Given the description of an element on the screen output the (x, y) to click on. 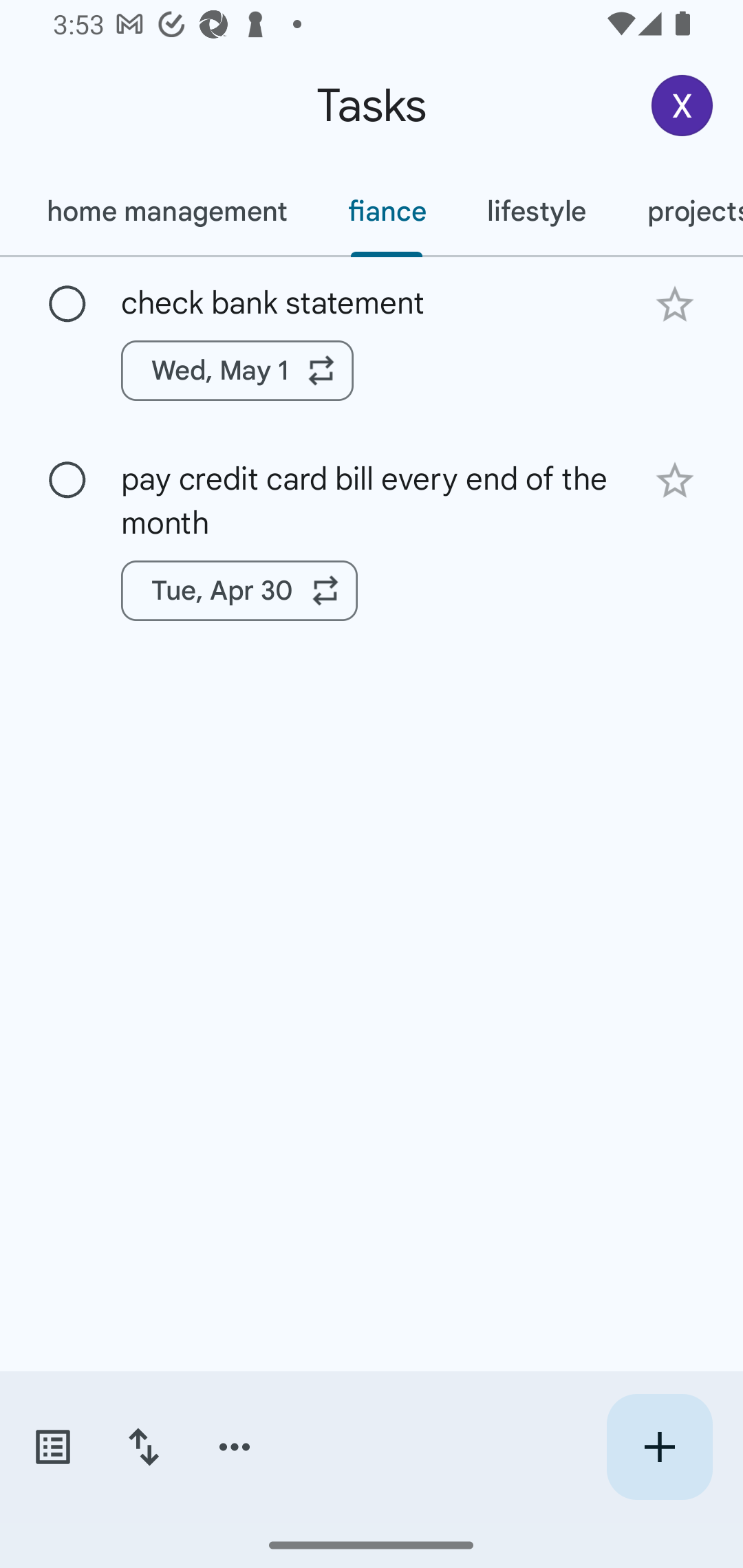
home management (166, 211)
lifestyle (536, 211)
projects (679, 211)
Add star (674, 303)
Mark as complete (67, 304)
Wed, May 1 (237, 369)
Add star (674, 480)
Mark as complete (67, 480)
Tue, Apr 30 (239, 590)
Switch task lists (52, 1447)
Create new task (659, 1446)
Change sort order (143, 1446)
More options (234, 1446)
